Given the description of an element on the screen output the (x, y) to click on. 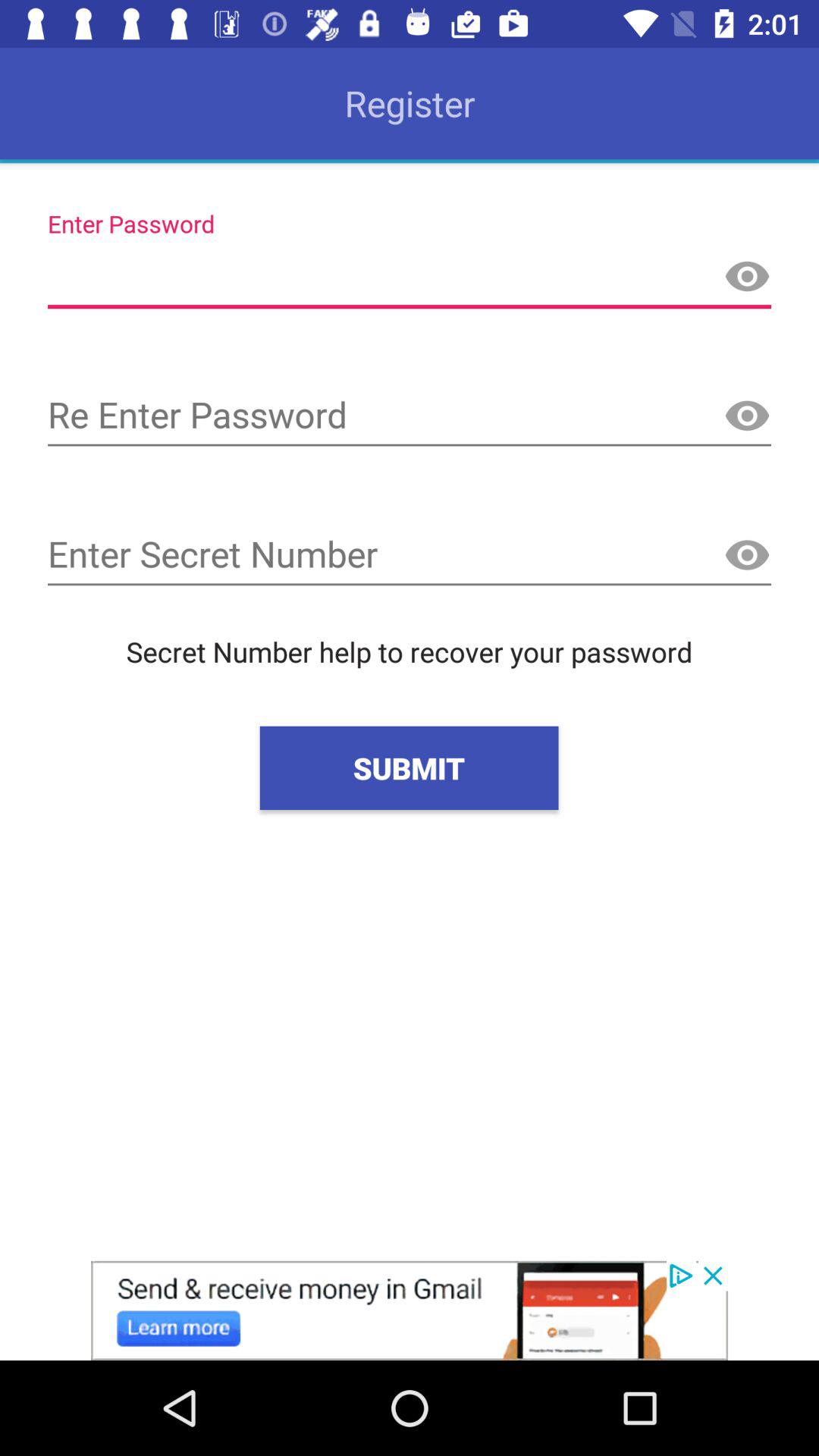
open advertisement (409, 1310)
